Given the description of an element on the screen output the (x, y) to click on. 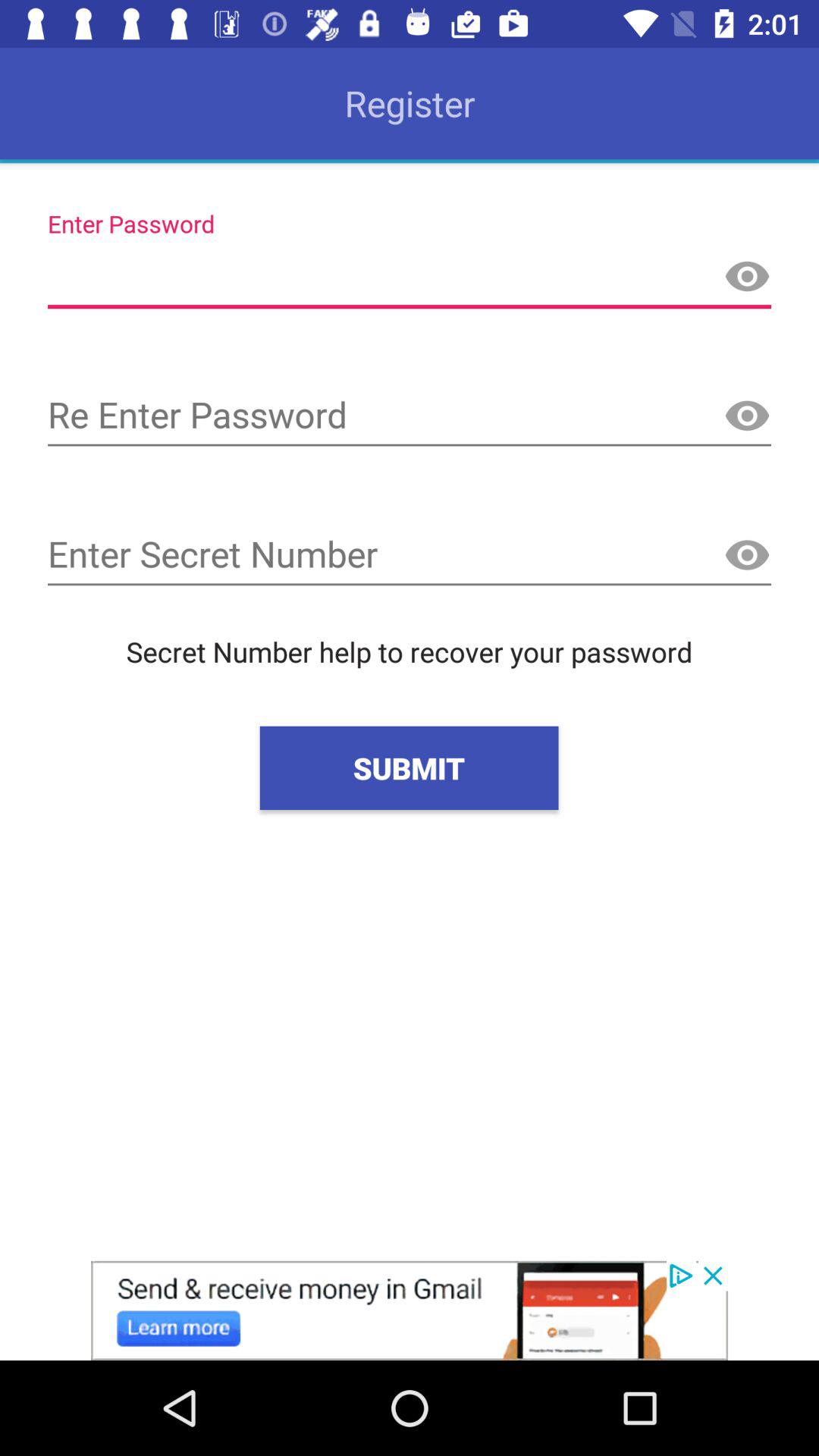
open advertisement (409, 1310)
